Given the description of an element on the screen output the (x, y) to click on. 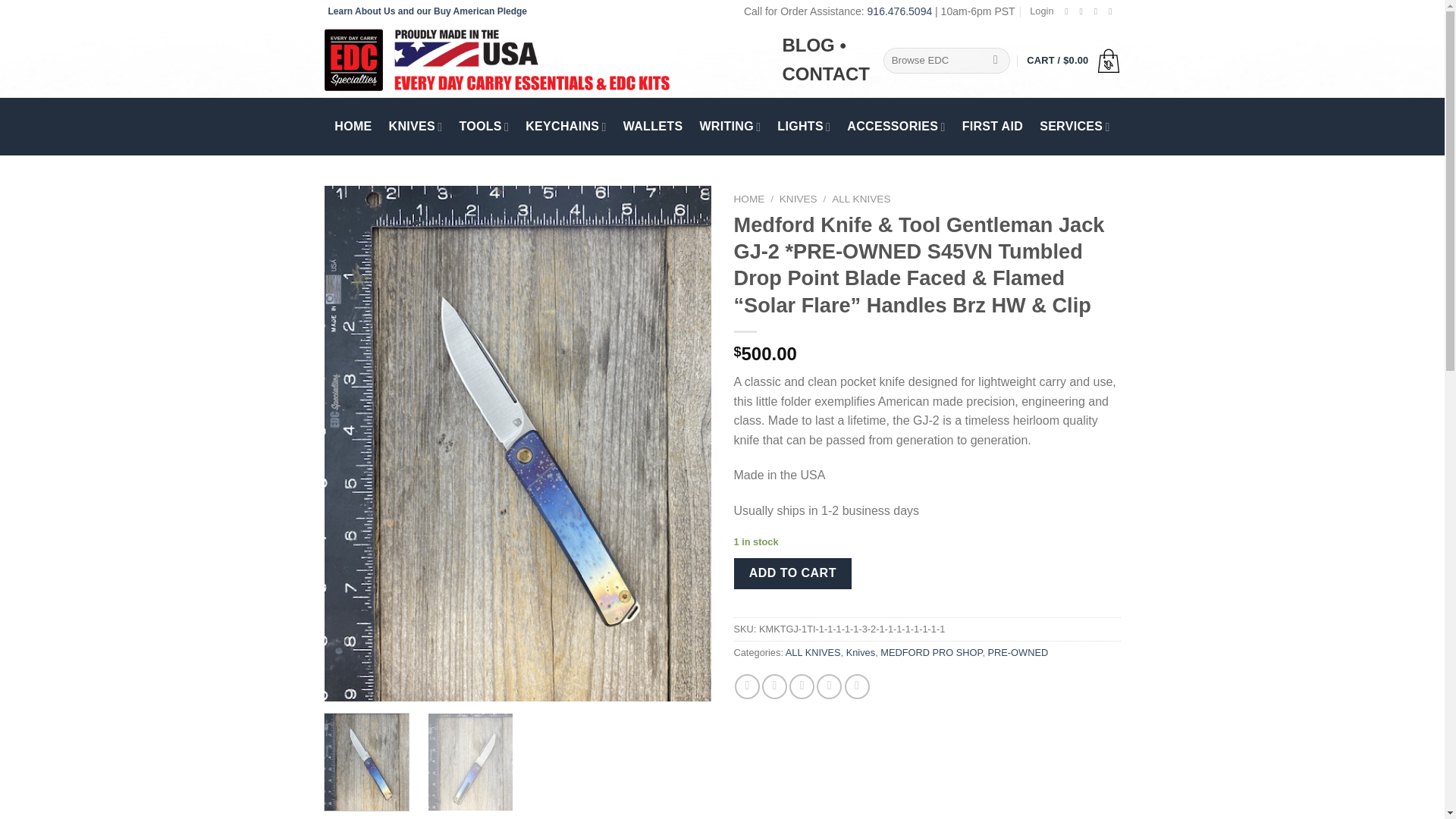
916.476.5094 (900, 10)
Login (1040, 11)
Share on Twitter (774, 686)
WRITING (729, 126)
Email to a Friend (801, 686)
CONTACT (825, 73)
Cart (1072, 60)
Share on Facebook (747, 686)
KNIVES (415, 126)
Learn About Us and our Buy American Pledge (427, 10)
BLOG (807, 45)
KEYCHAINS (565, 126)
Search (996, 60)
WALLETS (652, 126)
